Given the description of an element on the screen output the (x, y) to click on. 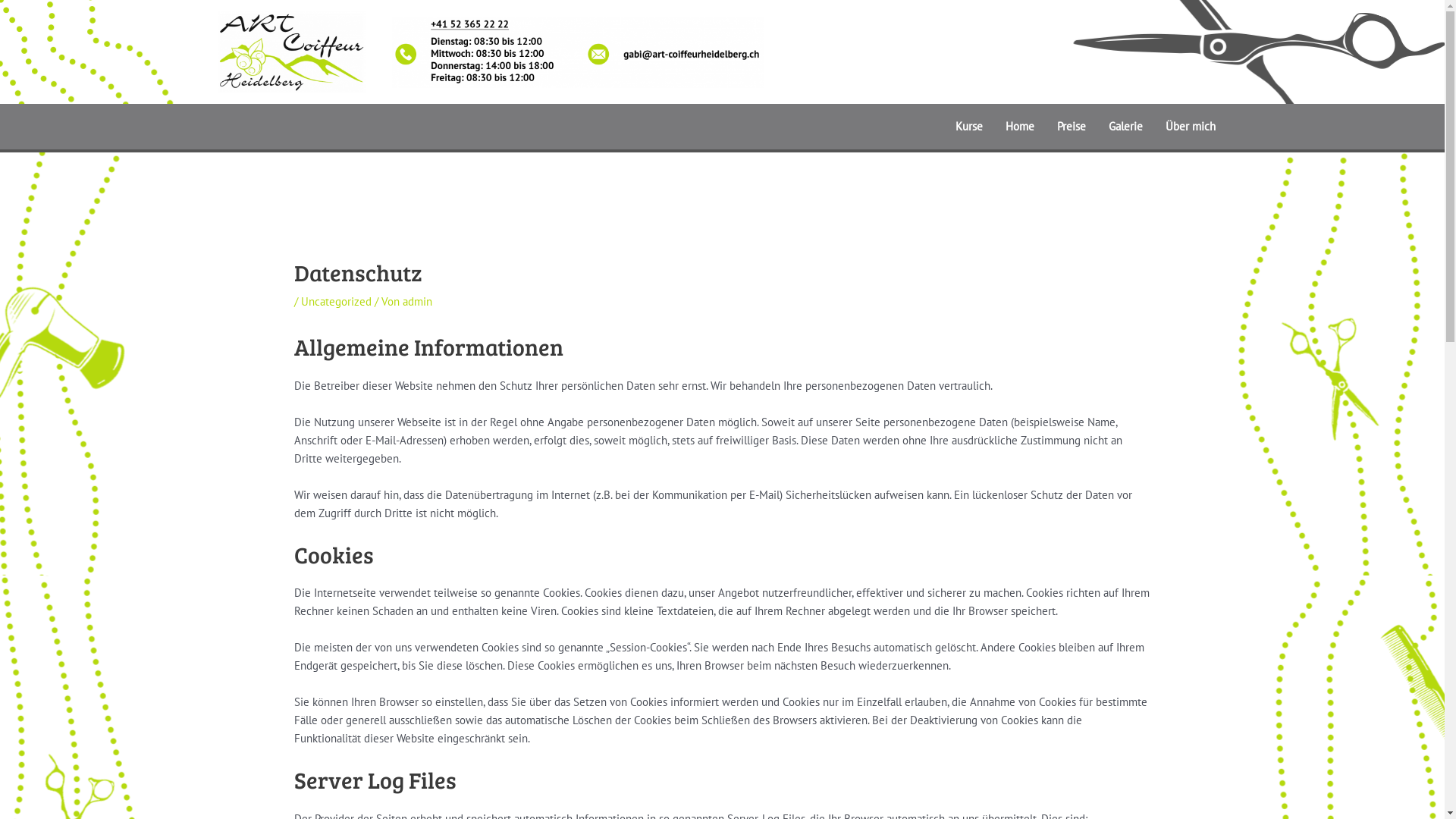
admin Element type: text (417, 301)
Home Element type: text (1018, 126)
Preise Element type: text (1070, 126)
Galerie Element type: text (1124, 126)
Uncategorized Element type: text (336, 301)
Kurse Element type: text (968, 126)
